Given the description of an element on the screen output the (x, y) to click on. 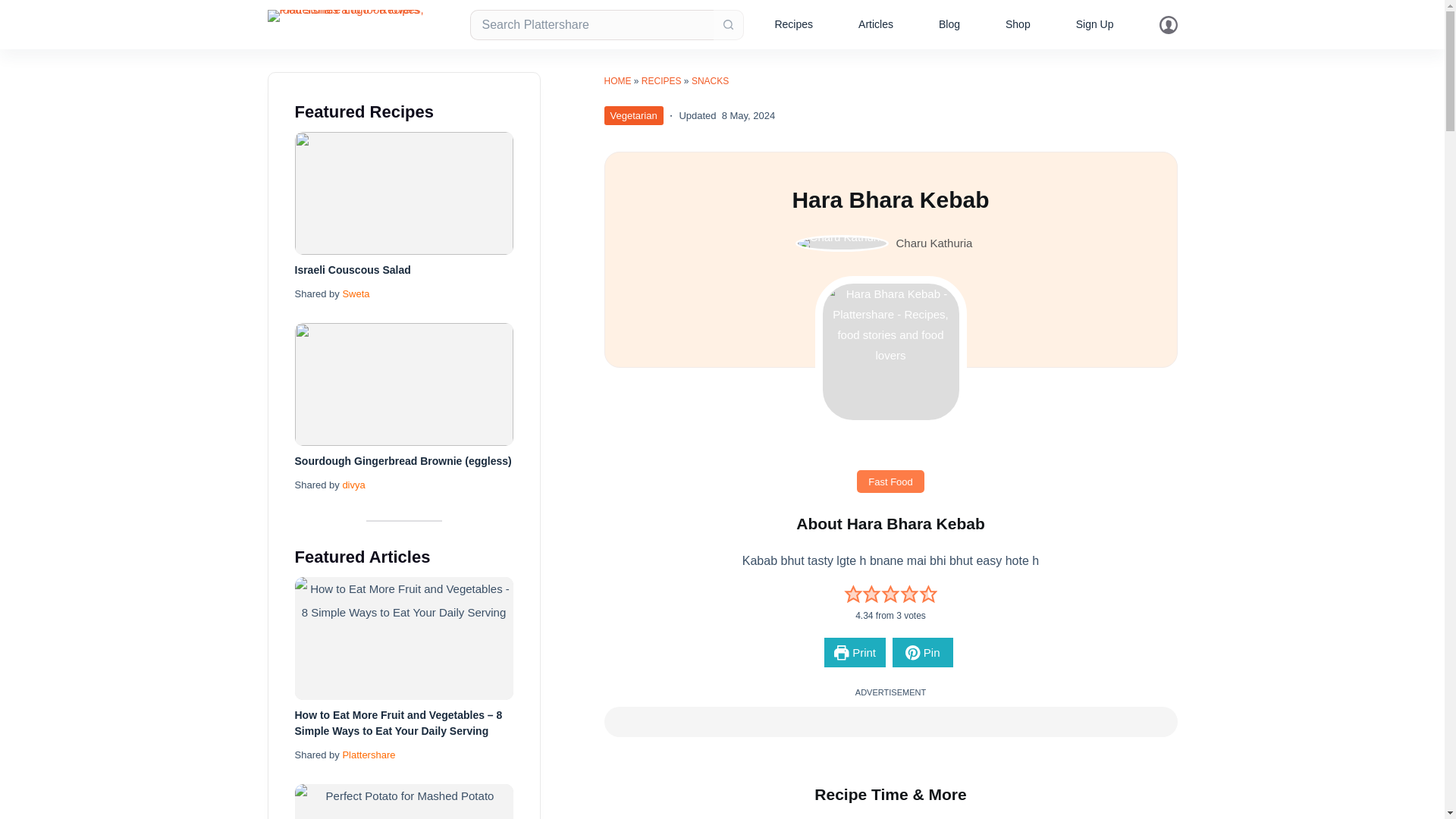
Charu Kathuria (934, 242)
RECIPES (661, 81)
Vegetarian (633, 115)
Shop (1017, 24)
SNACKS (710, 81)
Fast Food (890, 481)
Pin (922, 652)
Search for... (592, 24)
HOME (617, 81)
